Given the description of an element on the screen output the (x, y) to click on. 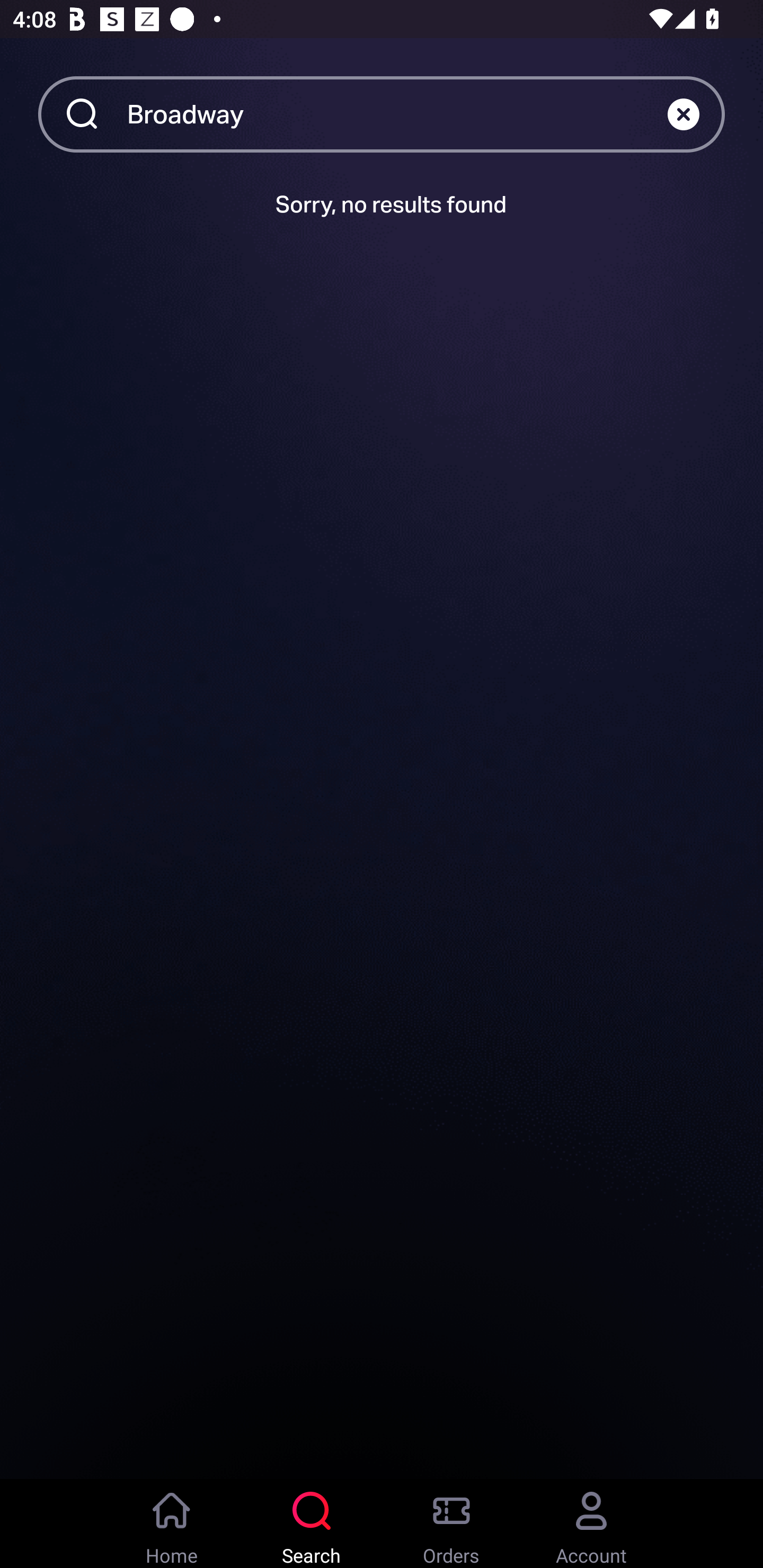
Broadway (397, 113)
Home (171, 1523)
Orders (451, 1523)
Account (591, 1523)
